Given the description of an element on the screen output the (x, y) to click on. 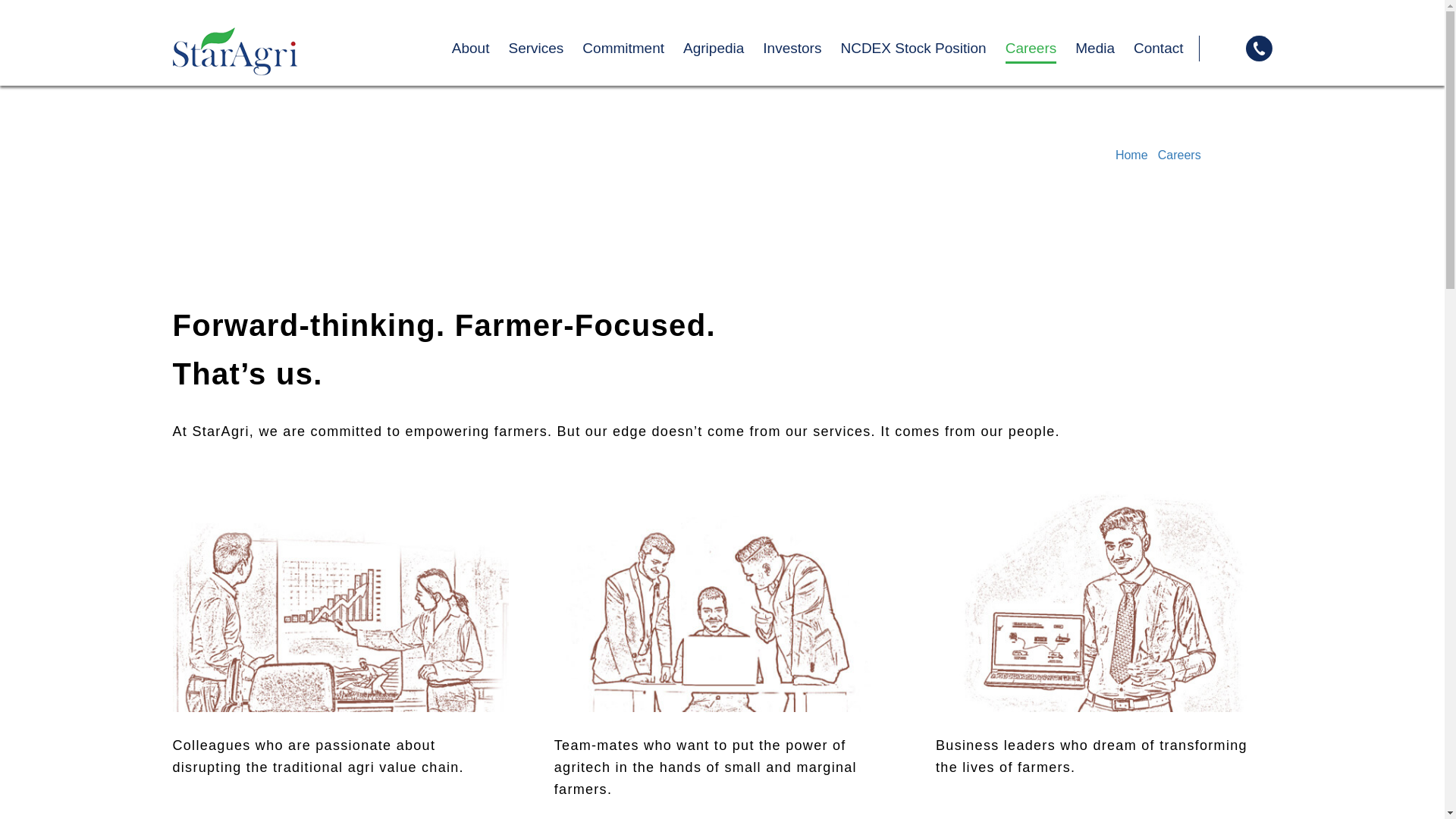
Careers (1031, 49)
Commitment (622, 48)
NCDEX Stock Position (912, 48)
Investors (791, 48)
Overview (1093, 79)
StarAgri (235, 50)
Overview (1234, 154)
About (470, 48)
Overview (610, 76)
Agripedia (713, 48)
Services (535, 48)
Overview (849, 76)
Our Story (539, 76)
Global Food Security (670, 76)
